Given the description of an element on the screen output the (x, y) to click on. 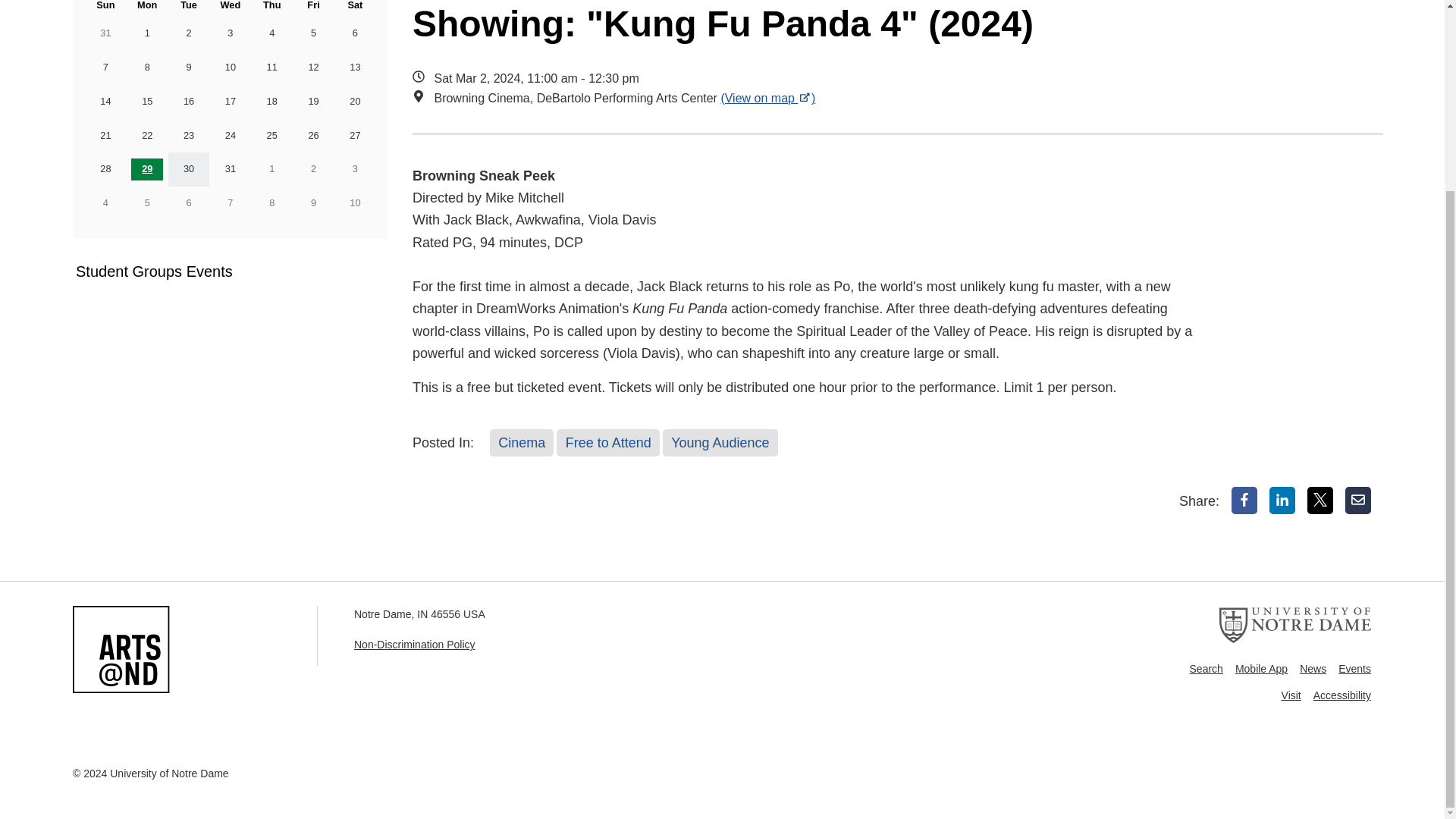
Email (1358, 500)
Cinema (521, 442)
Free to Attend (607, 442)
Sat Mar  2, 2024 11:00 am - 12:30 pm (806, 78)
LinkedIn (1282, 500)
Facebook (1244, 500)
29 (147, 169)
Young Audience (719, 442)
Arts at ND (121, 649)
Student Groups Events (218, 270)
